Given the description of an element on the screen output the (x, y) to click on. 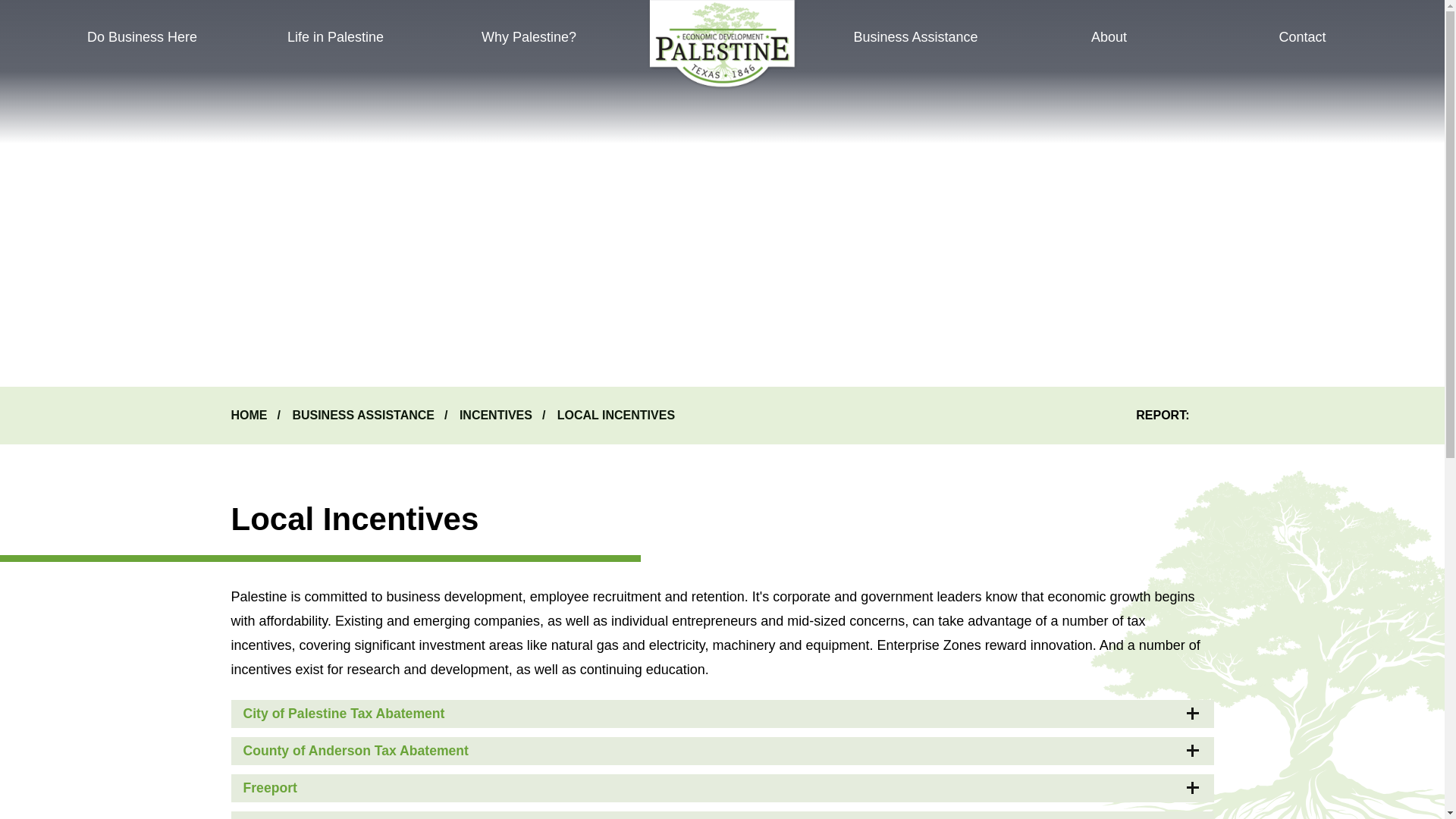
Do Business Here (141, 37)
Business Assistance (914, 37)
Life in Palestine (335, 37)
About (1108, 37)
Why Palestine? (529, 37)
